Given the description of an element on the screen output the (x, y) to click on. 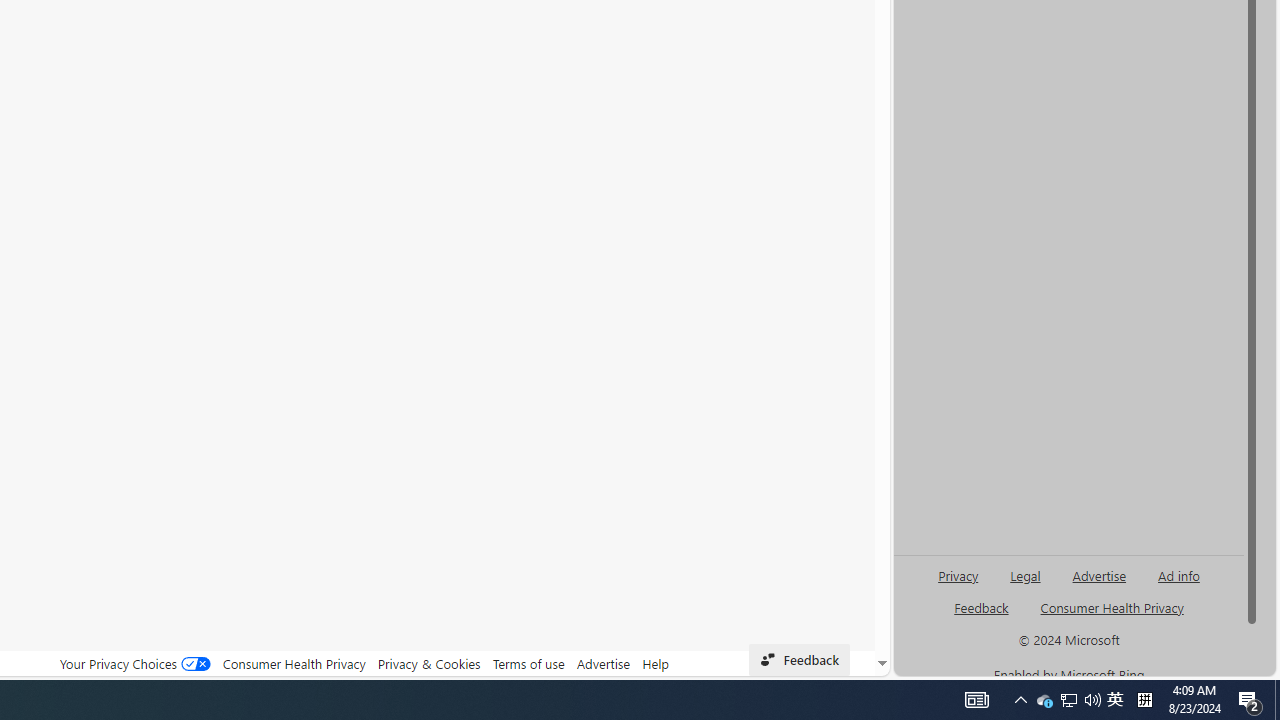
Feedback (798, 659)
AutomationID: genId96 (981, 615)
Advertise (603, 663)
Consumer Health Privacy (293, 663)
Terms of use (527, 663)
Help (655, 663)
AutomationID: sb_feedback (980, 607)
Your Privacy Choices (134, 663)
Privacy & Cookies (429, 663)
